Given the description of an element on the screen output the (x, y) to click on. 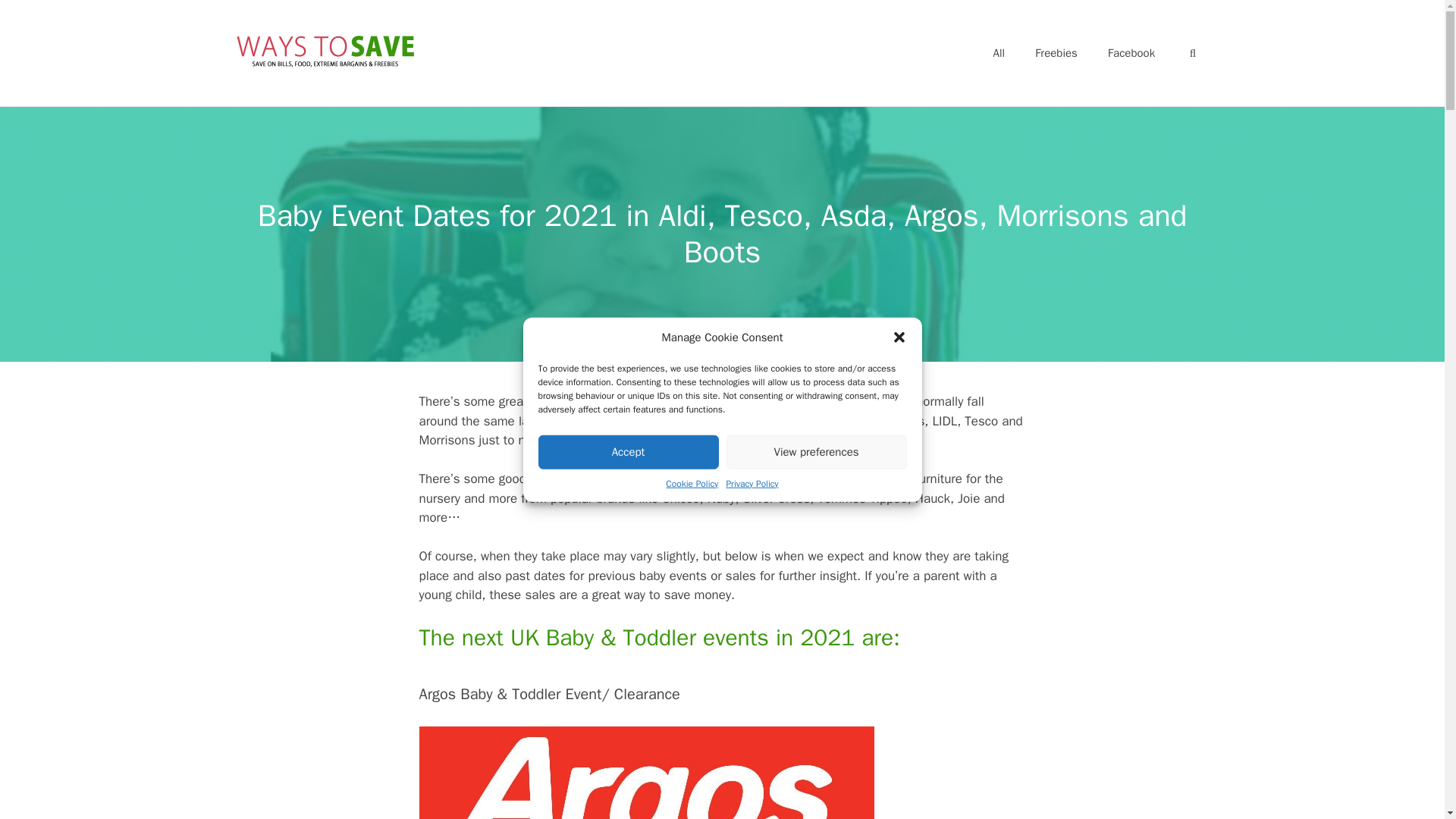
Facebook (1131, 53)
View preferences (816, 451)
All (999, 53)
Privacy Policy (751, 482)
Freebies (1056, 53)
Ways To Save (323, 48)
Ways To Save (323, 48)
Cookie Policy (691, 482)
